Given the description of an element on the screen output the (x, y) to click on. 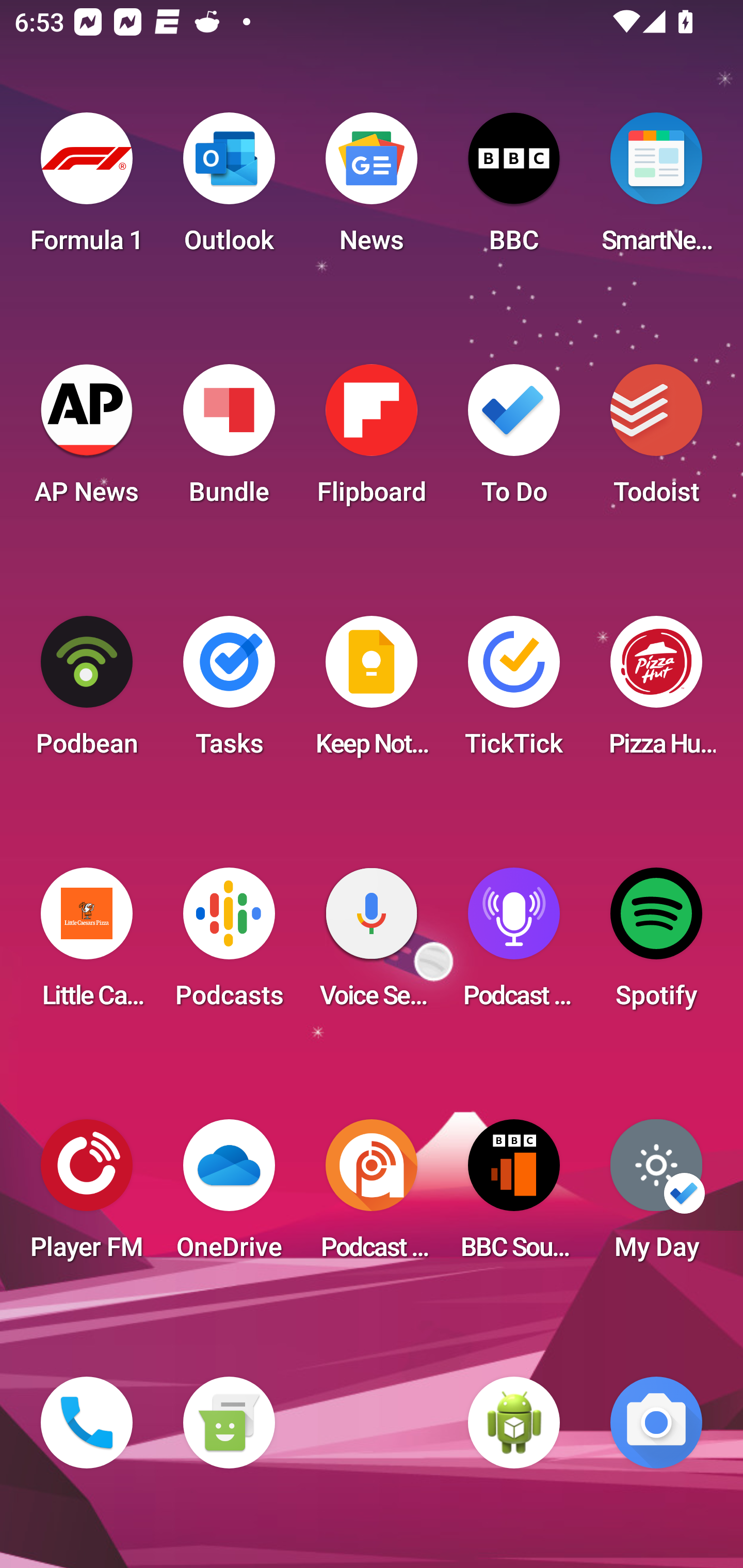
Formula 1 (86, 188)
Outlook (228, 188)
News (371, 188)
BBC (513, 188)
SmartNews (656, 188)
AP News (86, 440)
Bundle (228, 440)
Flipboard (371, 440)
To Do (513, 440)
Todoist (656, 440)
Podbean (86, 692)
Tasks (228, 692)
Keep Notes (371, 692)
TickTick (513, 692)
Pizza Hut HK & Macau (656, 692)
Little Caesars Pizza (86, 943)
Podcasts (228, 943)
Voice Search (371, 943)
Podcast Player (513, 943)
Spotify (656, 943)
Player FM (86, 1195)
OneDrive (228, 1195)
Podcast Addict (371, 1195)
BBC Sounds (513, 1195)
My Day (656, 1195)
Phone (86, 1422)
Messaging (228, 1422)
WebView Browser Tester (513, 1422)
Camera (656, 1422)
